Given the description of an element on the screen output the (x, y) to click on. 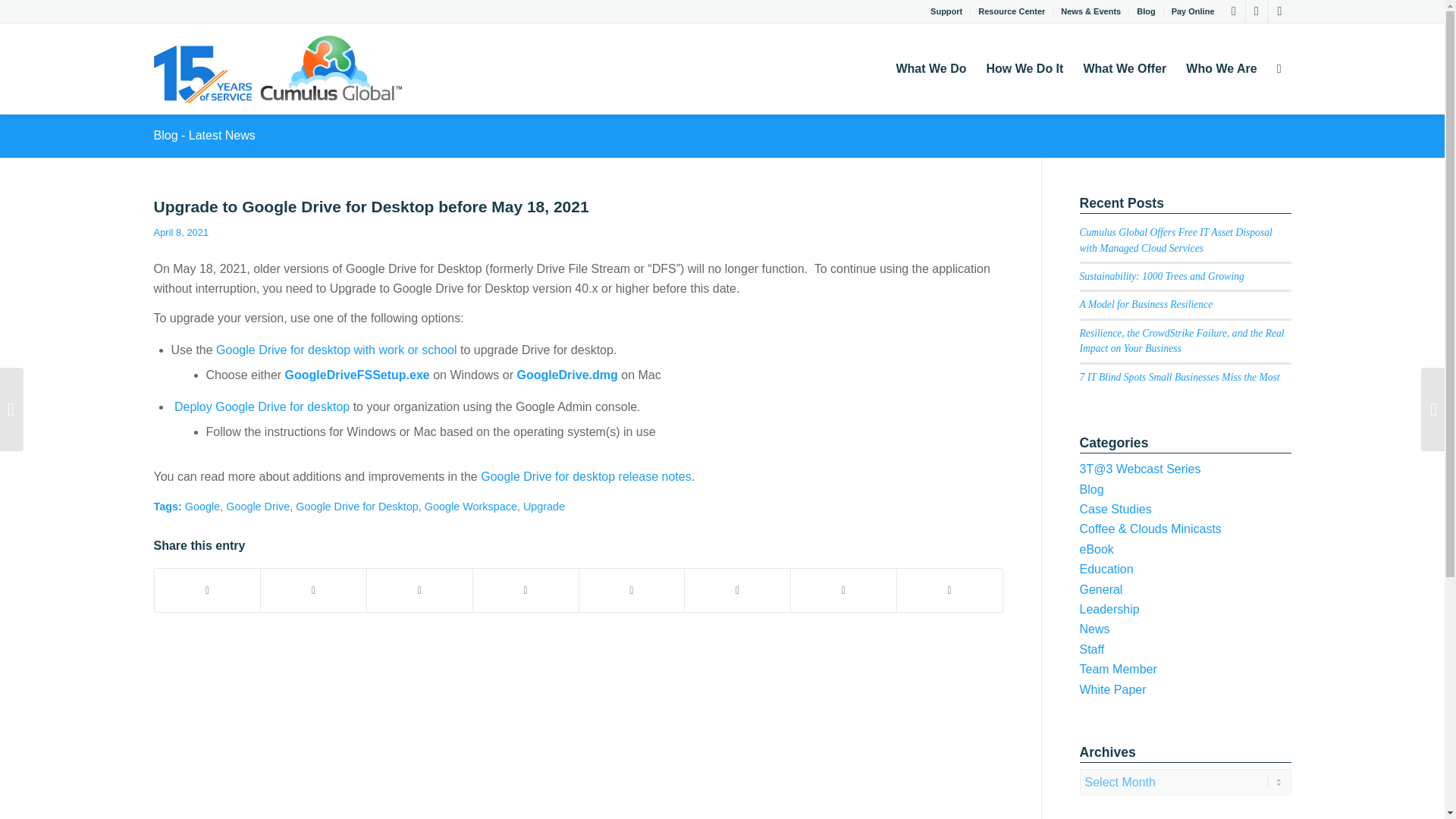
Support (946, 11)
Facebook (1279, 11)
Resource Center (1011, 11)
cumulus-15-years (276, 68)
How We Do It (1024, 68)
Blog (1145, 11)
Pay Online (1193, 11)
LinkedIn (1255, 11)
Who We Are (1221, 68)
Permanent Link: Blog - Latest News (203, 134)
